Given the description of an element on the screen output the (x, y) to click on. 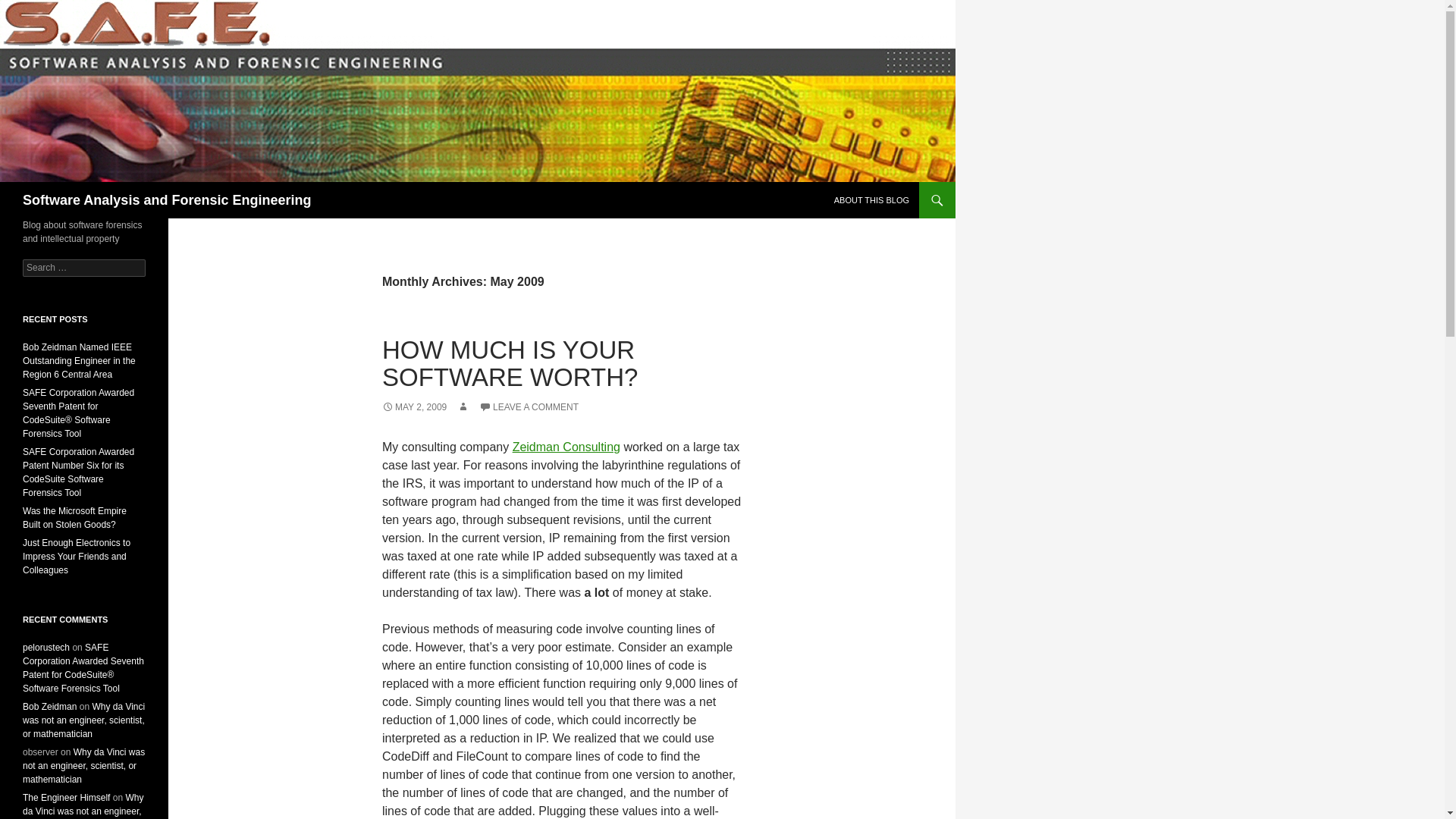
Bob Zeidman (50, 706)
pelorustech (46, 647)
Was the Microsoft Empire Built on Stolen Goods? (74, 517)
MAY 2, 2009 (413, 407)
Search (30, 8)
Software Analysis and Forensic Engineering (167, 199)
Zeidman Consulting (566, 446)
HOW MUCH IS YOUR SOFTWARE WORTH? (509, 363)
